Given the description of an element on the screen output the (x, y) to click on. 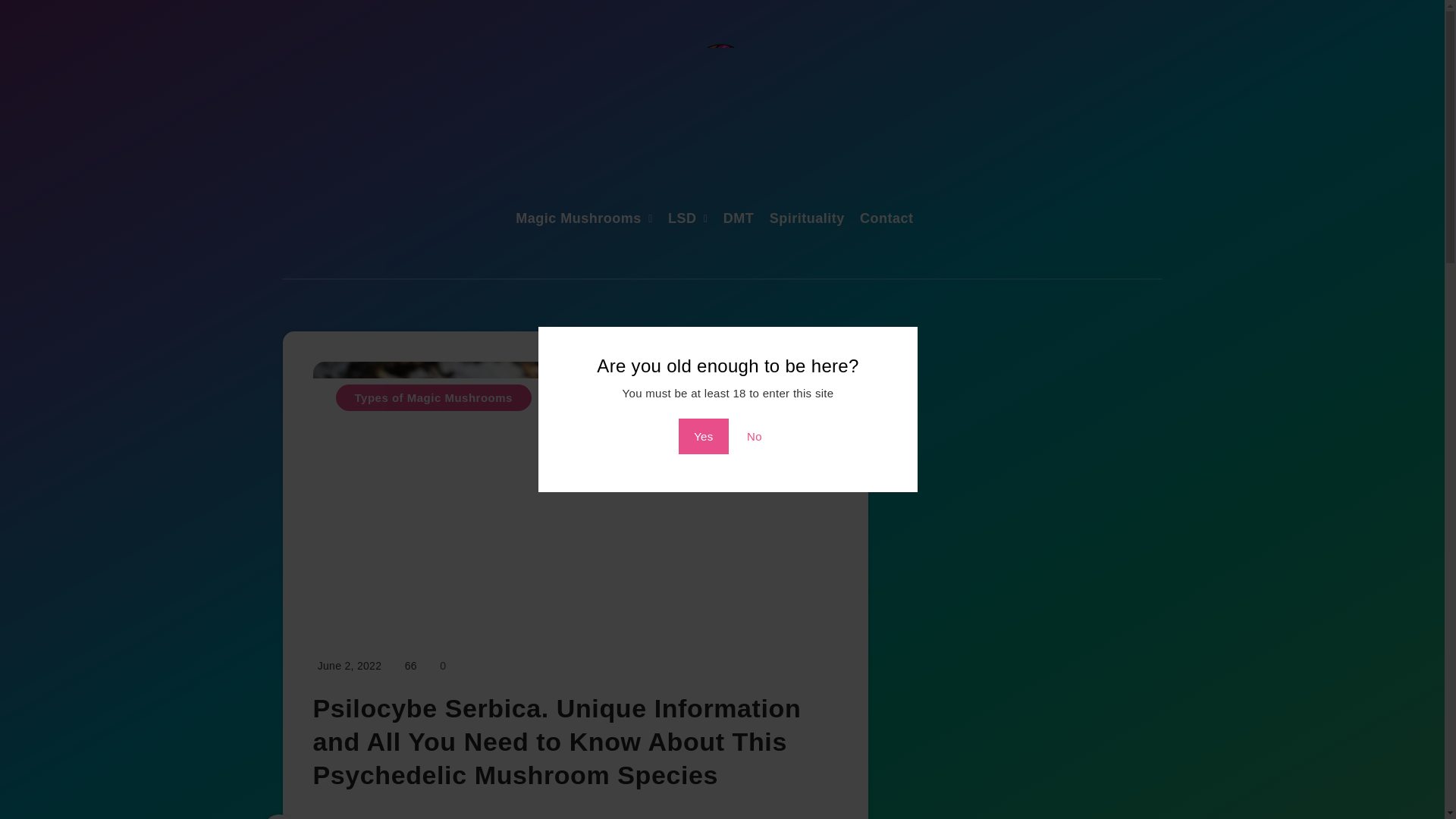
LSD (682, 219)
Views (409, 665)
Contact (887, 219)
No (754, 436)
Magic Mushrooms (578, 219)
Spirituality (807, 219)
Yes (703, 436)
DMT (738, 219)
Types of Magic Mushrooms (432, 397)
